Given the description of an element on the screen output the (x, y) to click on. 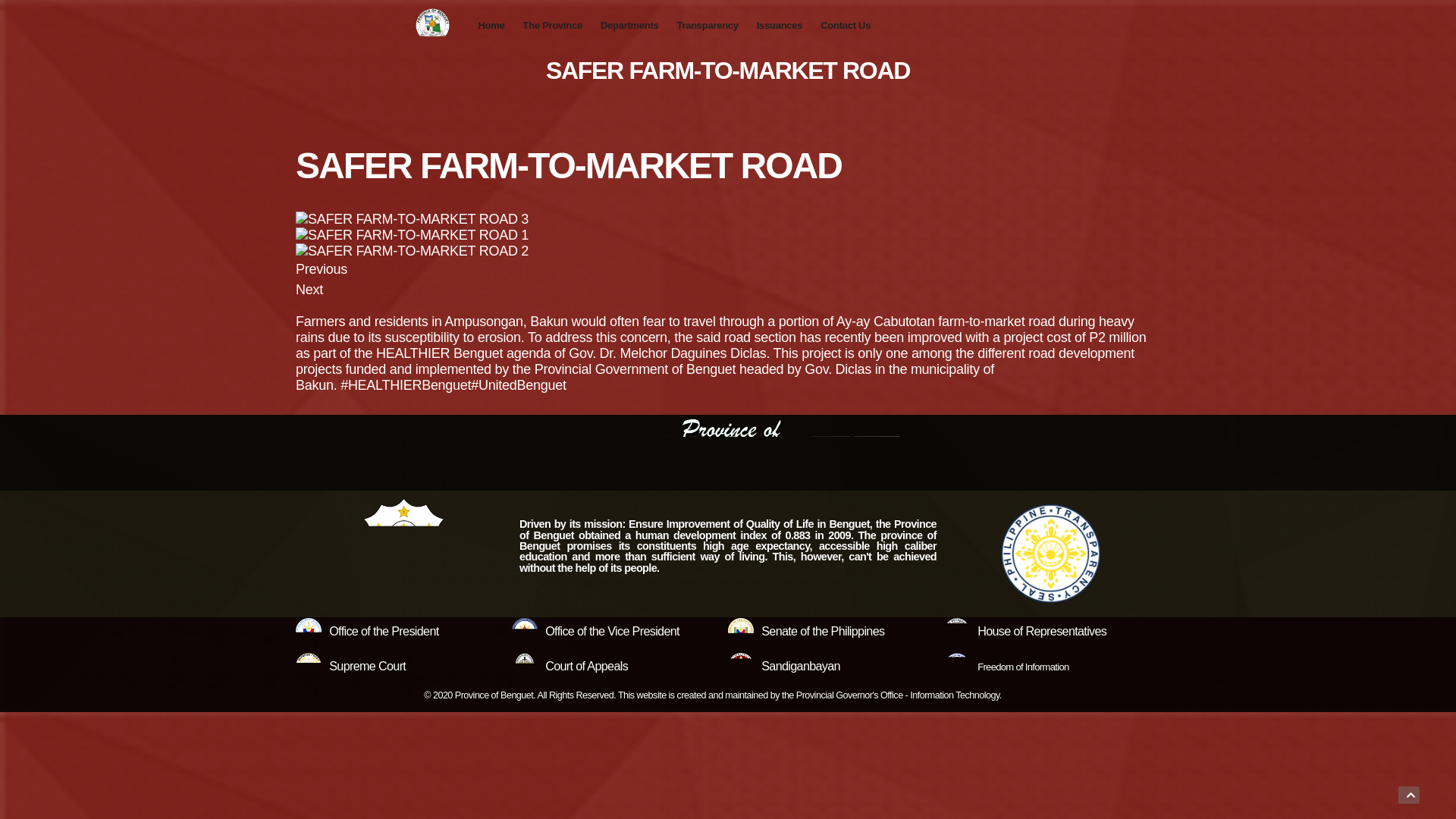
Home (490, 25)
Departments (629, 25)
The Province (552, 25)
